Given the description of an element on the screen output the (x, y) to click on. 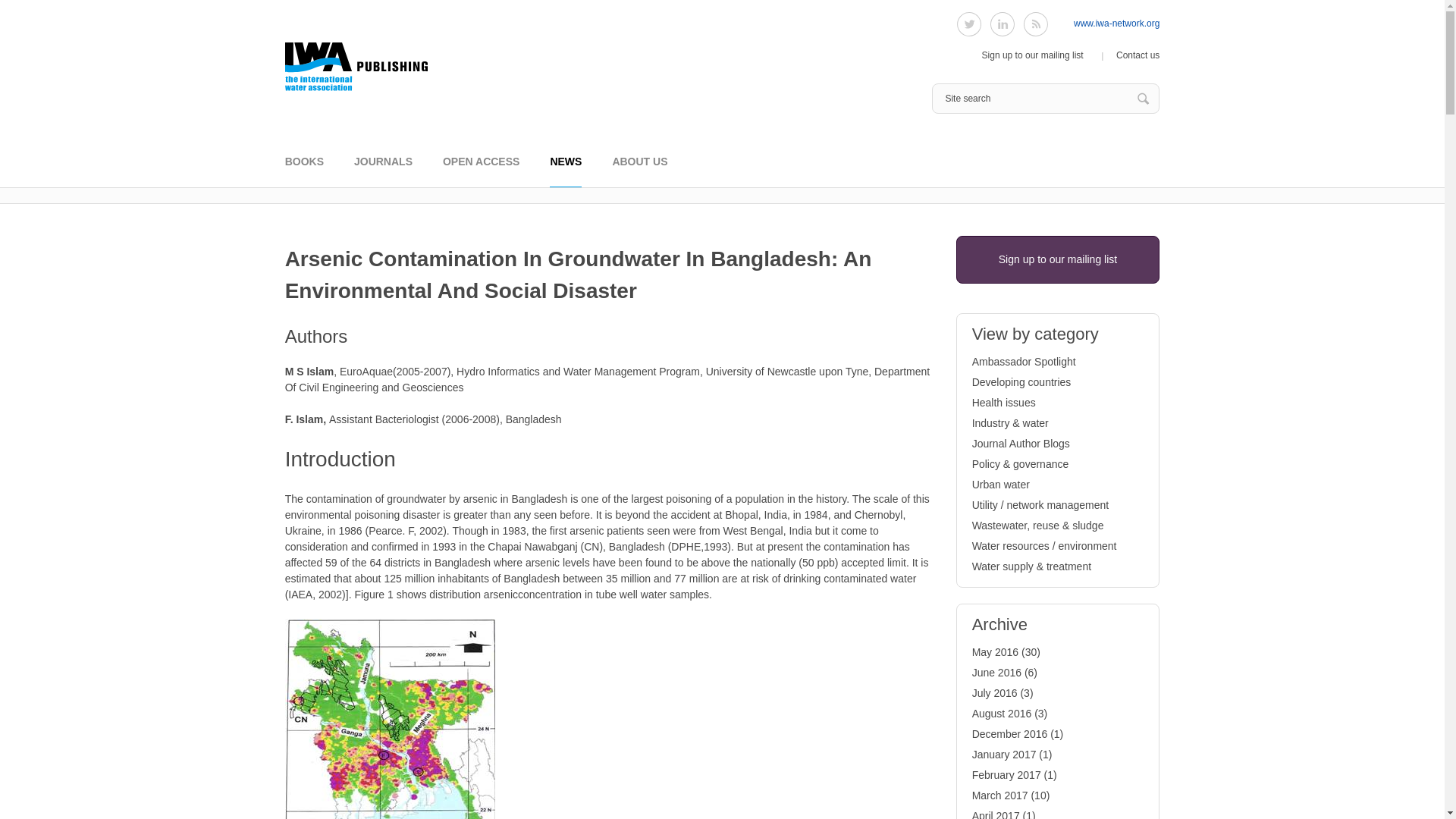
Enter the terms you wish to search for. (1044, 98)
www.iwa-network.org (1116, 23)
RSS (1035, 23)
Follow us on Twitter (968, 23)
BOOKS (304, 170)
Sign up to our mailing list (1032, 55)
ABOUT US (638, 170)
Search (1143, 98)
Search (1143, 98)
Subscribe to our RSS feeds (1035, 23)
JOURNALS (382, 170)
Twitter (968, 23)
Visit www.iwa-network.org (1116, 23)
NEWS (565, 170)
LinkedIn (1002, 23)
